Given the description of an element on the screen output the (x, y) to click on. 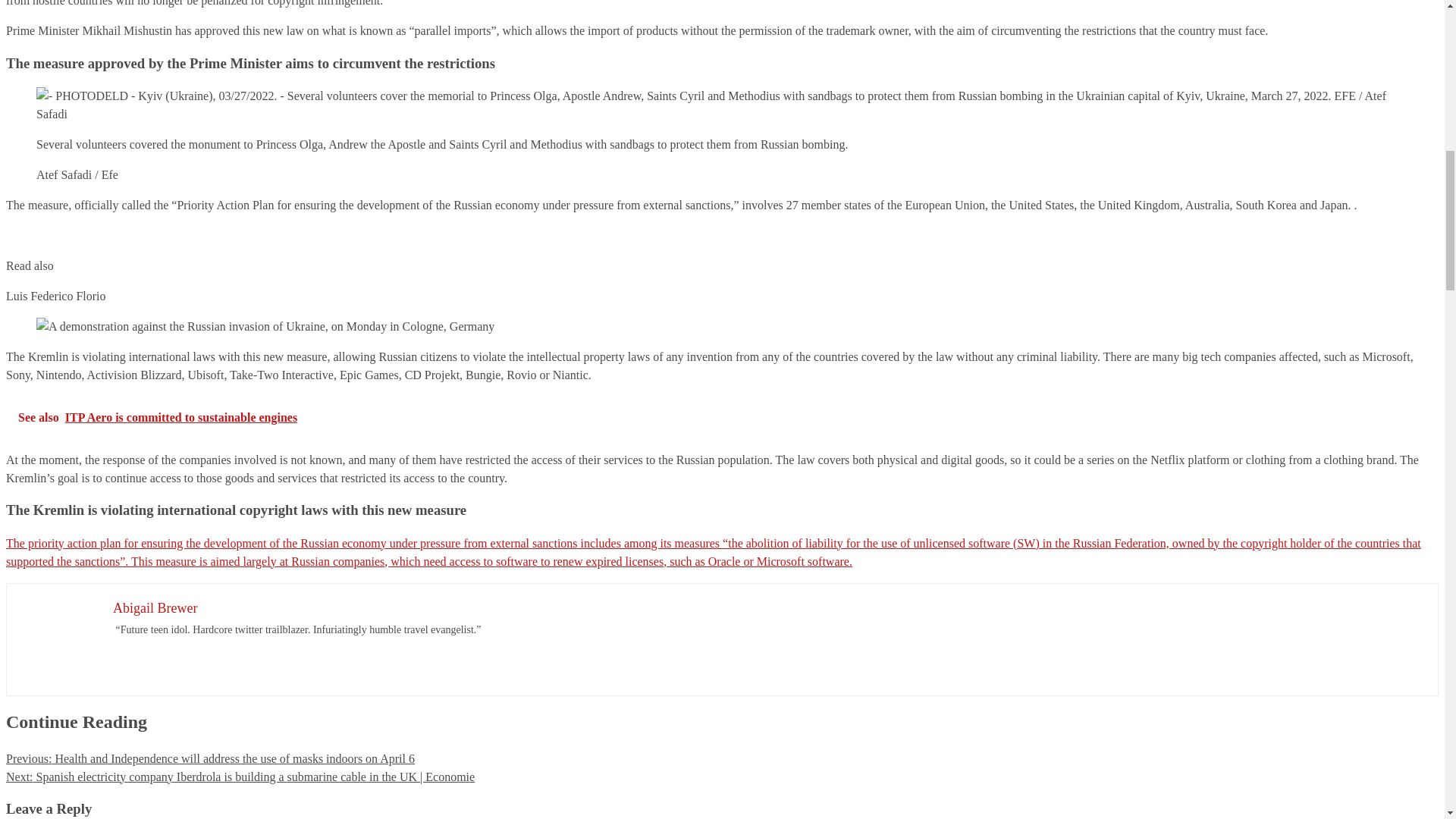
Abigail Brewer (154, 607)
